Given the description of an element on the screen output the (x, y) to click on. 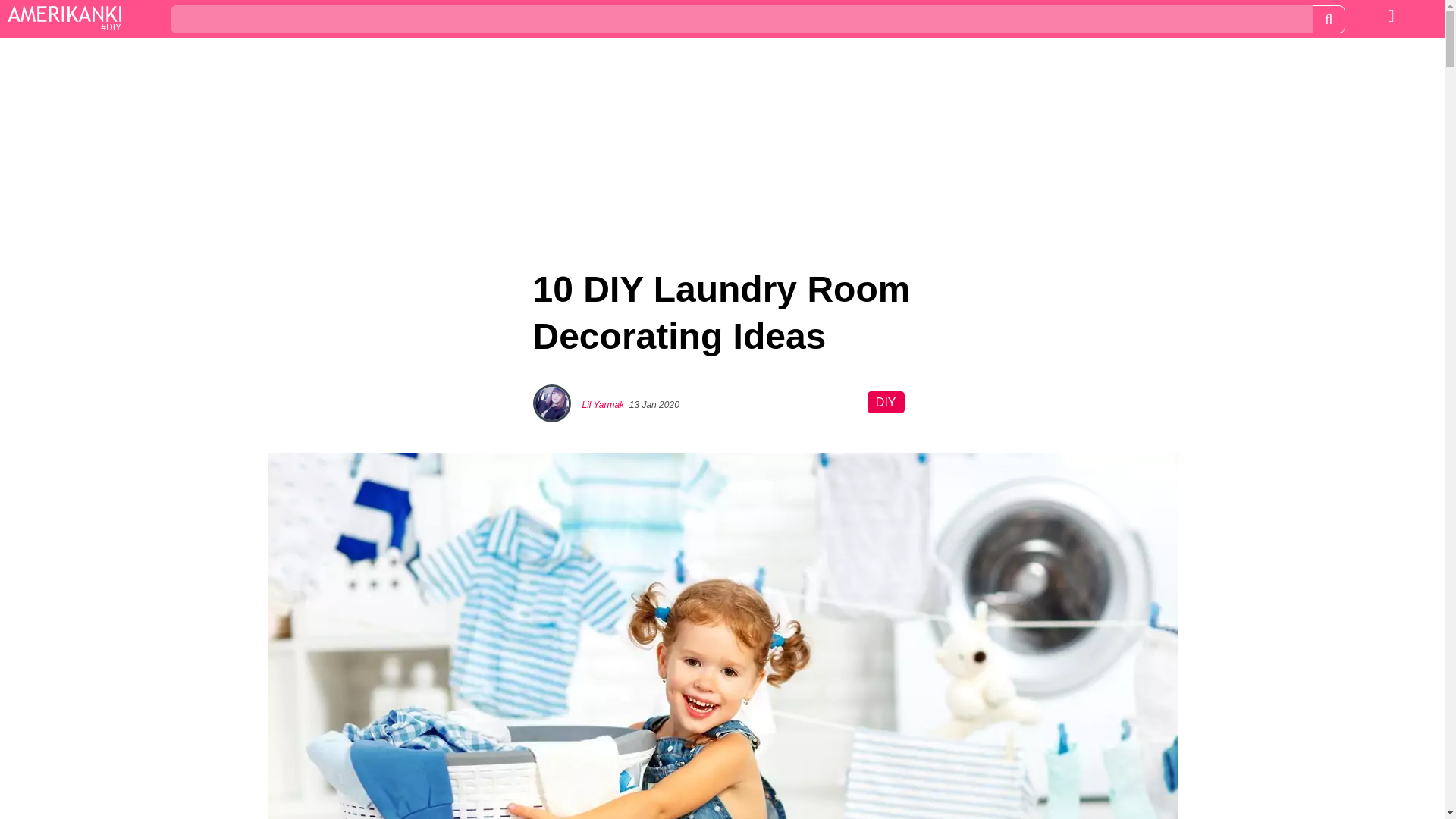
DIY (63, 19)
Lil Yarmak (603, 404)
DIY (885, 402)
DIY Amerikanki (63, 19)
